Given the description of an element on the screen output the (x, y) to click on. 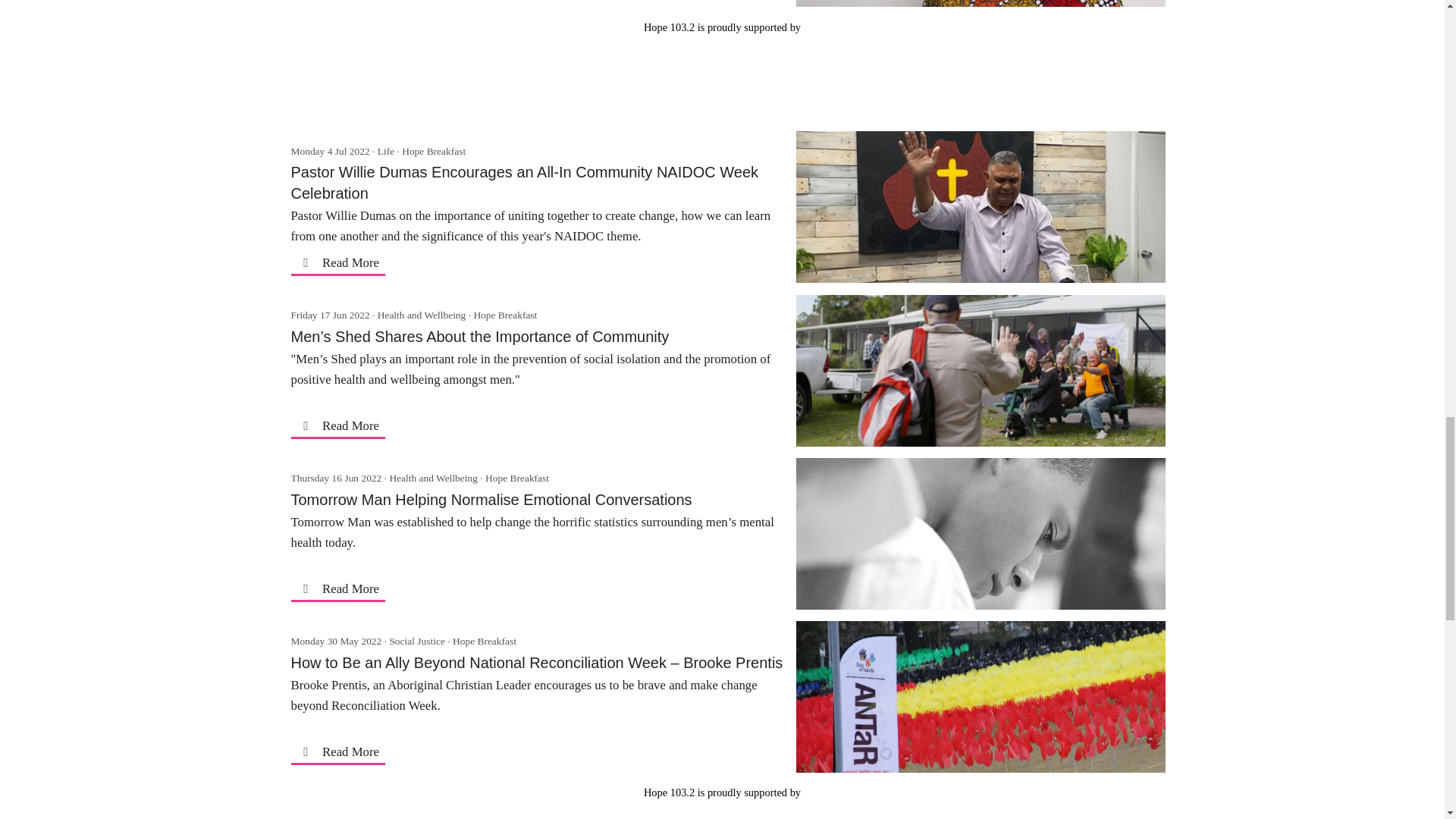
3rd party ad content (721, 70)
